Given the description of an element on the screen output the (x, y) to click on. 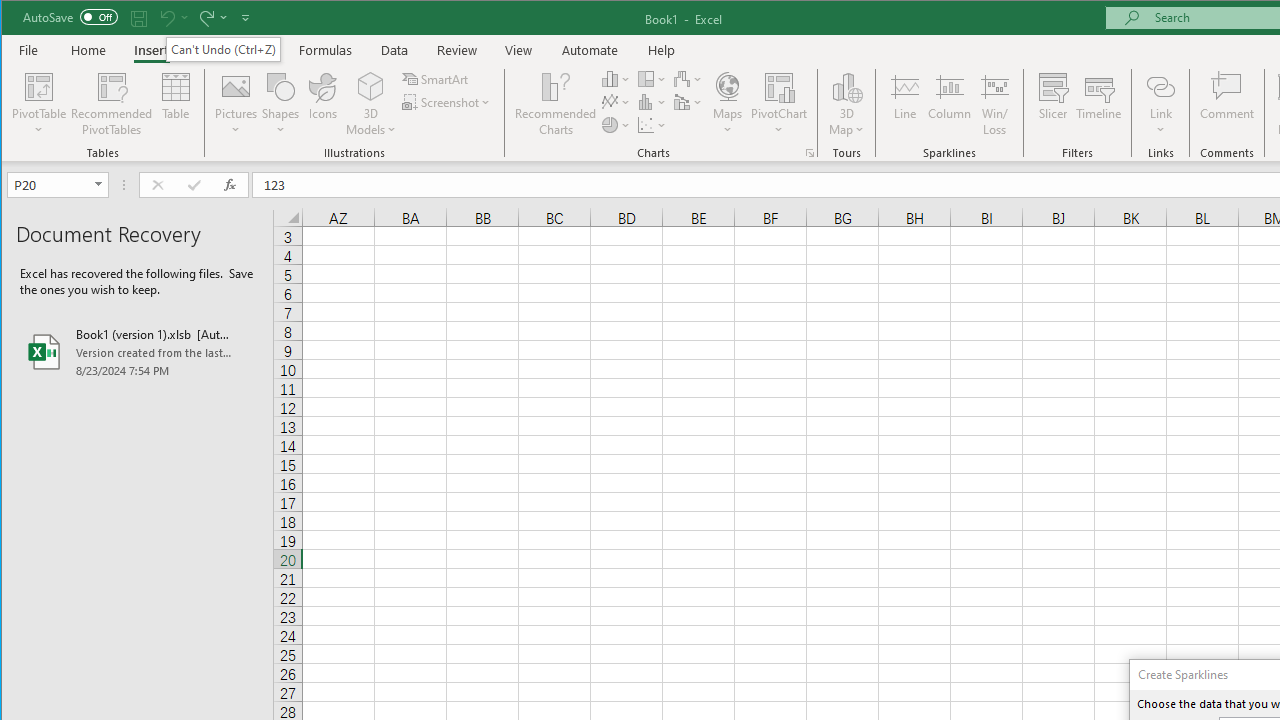
Win/Loss (995, 104)
Column (949, 104)
SmartArt... (436, 78)
Slicer... (1052, 104)
Link (1160, 104)
PivotTable (39, 86)
Insert Hierarchy Chart (652, 78)
Timeline (1098, 104)
Insert Line or Area Chart (616, 101)
